Given the description of an element on the screen output the (x, y) to click on. 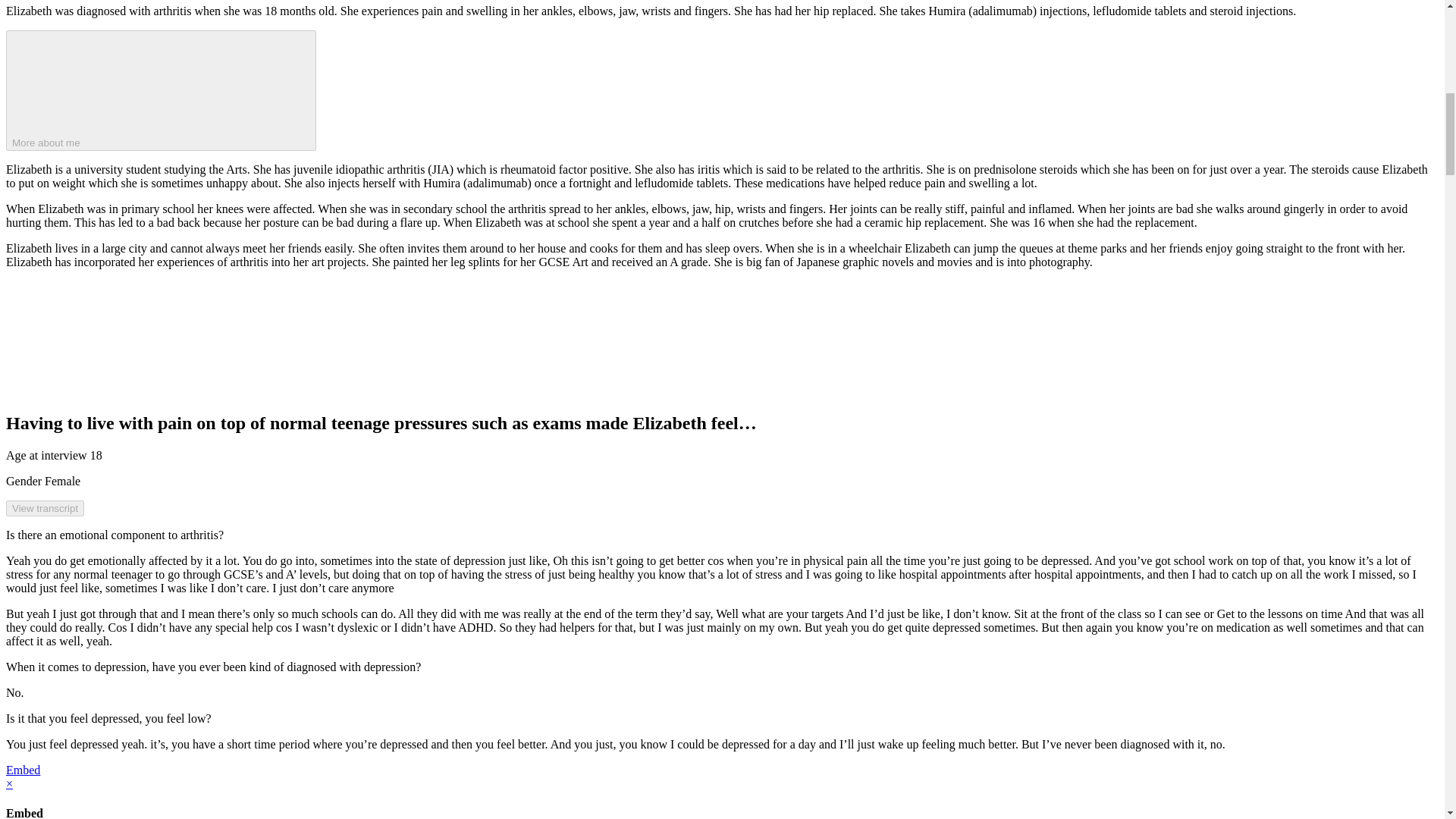
Embed (22, 768)
View transcript (44, 508)
More about me (160, 90)
